Given the description of an element on the screen output the (x, y) to click on. 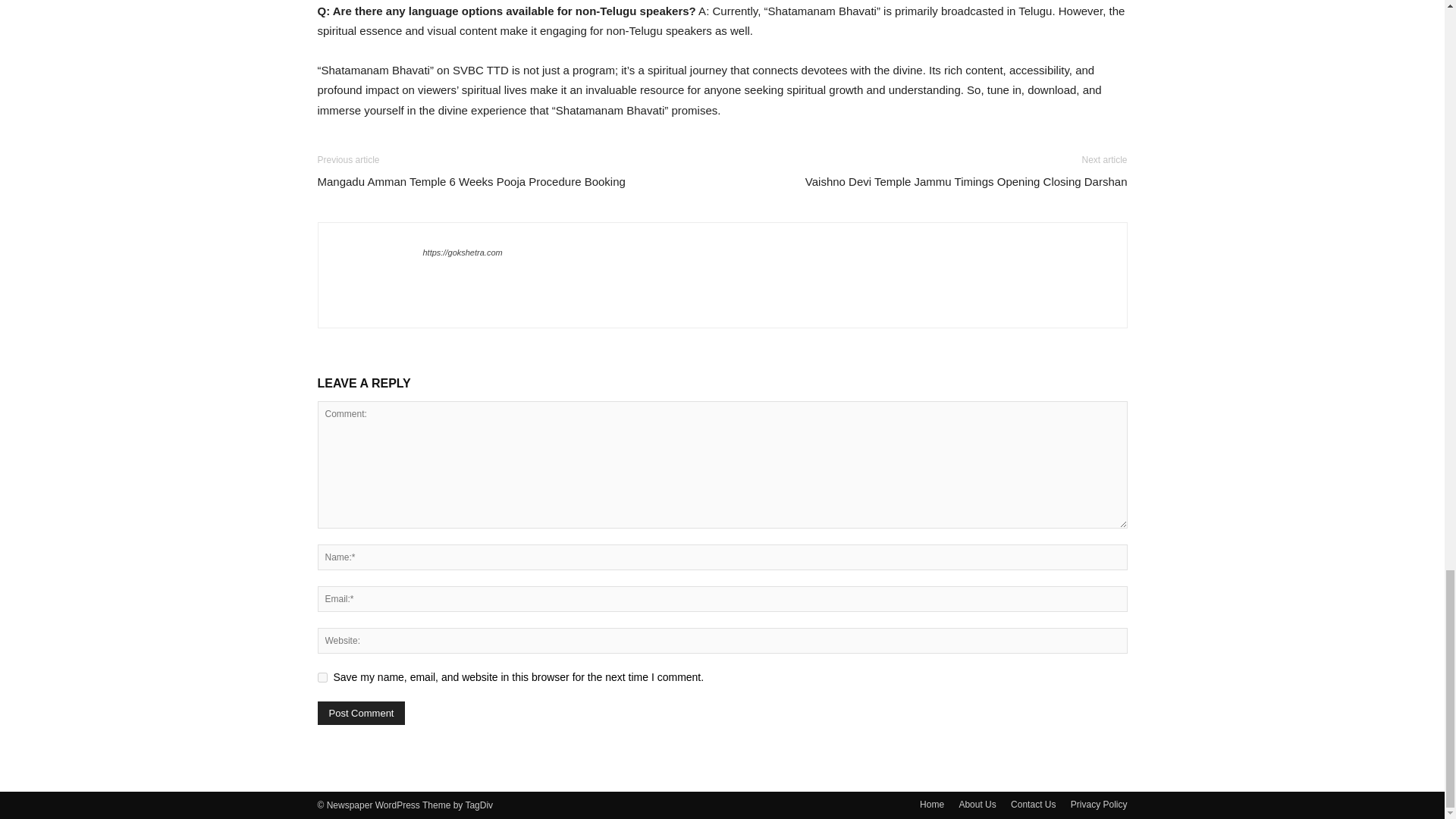
Mangadu Amman Temple 6 Weeks Pooja Procedure Booking (470, 181)
Contact Us (1032, 804)
Vaishno Devi Temple Jammu Timings Opening Closing Darshan (965, 181)
About Us (976, 804)
Post Comment (360, 712)
Home (931, 804)
Post Comment (360, 712)
yes (321, 677)
Privacy Policy (1098, 804)
